Given the description of an element on the screen output the (x, y) to click on. 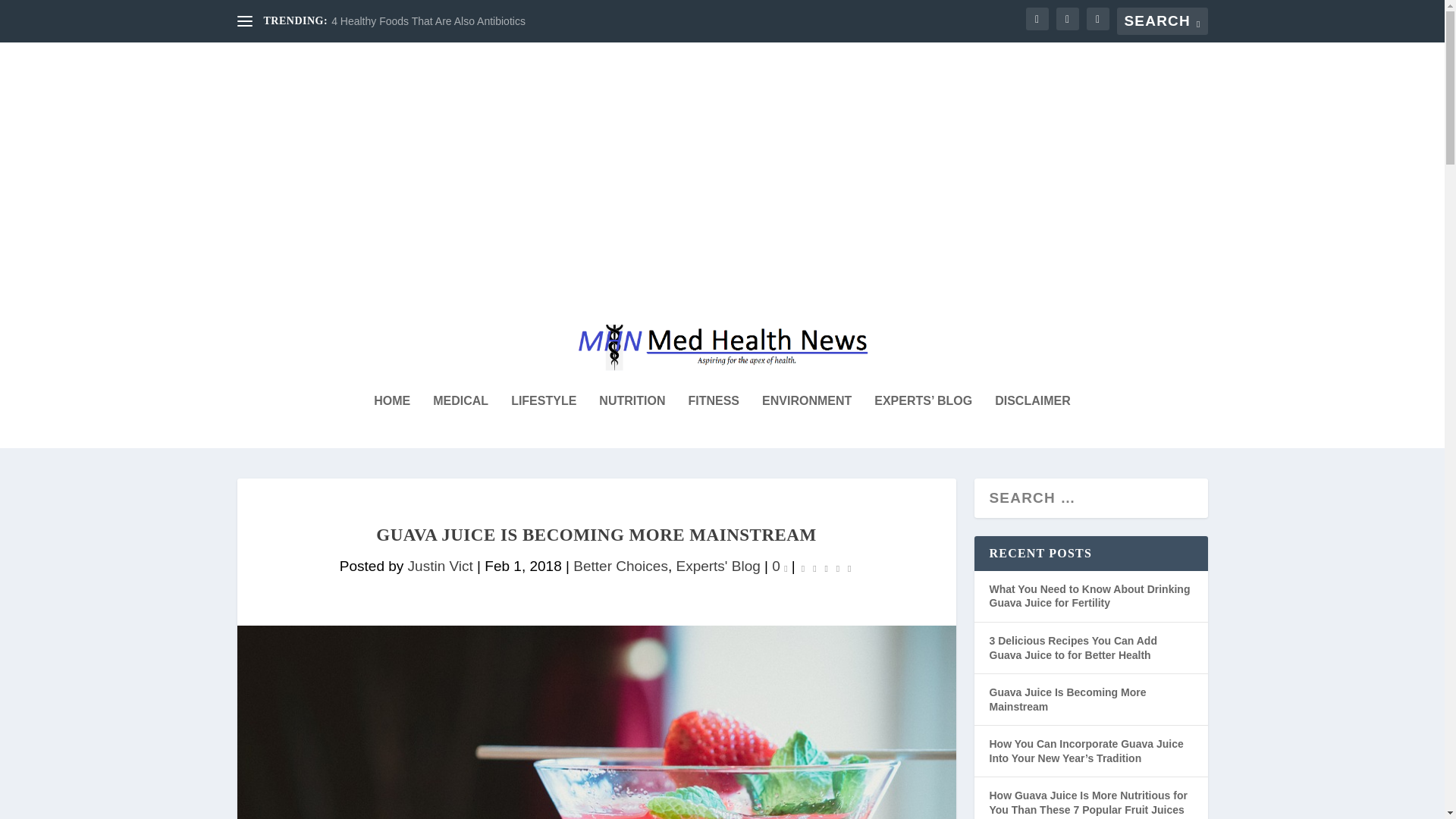
Experts' Blog (717, 565)
FITNESS (713, 420)
Rating: 0.00 (826, 566)
ENVIRONMENT (806, 420)
LIFESTYLE (543, 420)
DISCLAIMER (1032, 420)
4 Healthy Foods That Are Also Antibiotics (428, 21)
Search for: (1161, 21)
0 (779, 565)
Posts by Justin Vict (440, 565)
Better Choices (620, 565)
MEDICAL (459, 420)
Advertisement (512, 171)
NUTRITION (631, 420)
Justin Vict (440, 565)
